Given the description of an element on the screen output the (x, y) to click on. 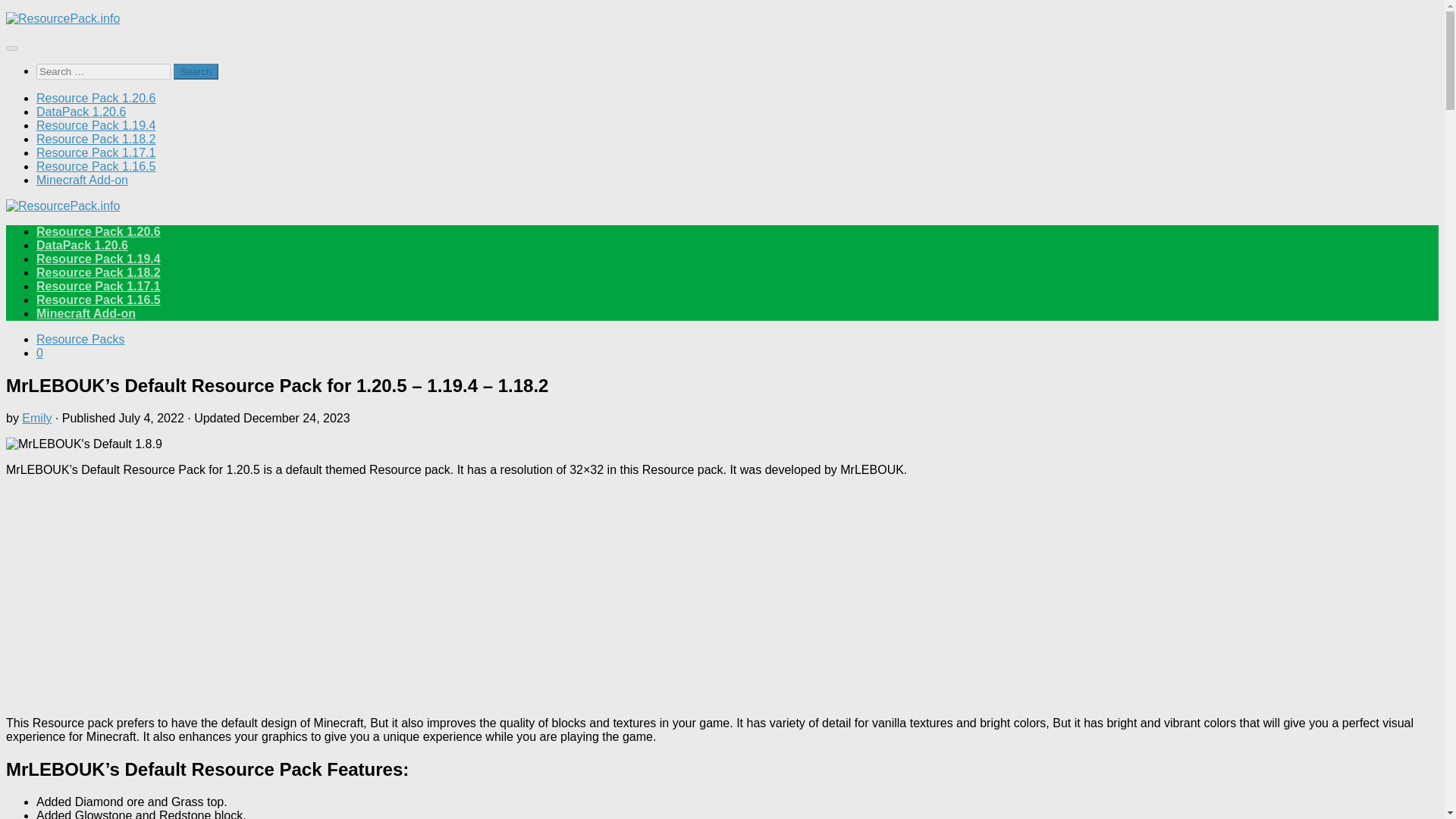
Resource Pack 1.16.5 (95, 165)
Resource Pack 1.17.1 (95, 152)
DataPack 1.20.6 (80, 111)
Emily (35, 418)
Minecraft Add-on (85, 313)
Resource Pack 1.19.4 (98, 258)
Resource Pack 1.18.2 (95, 138)
Resource Pack 1.16.5 (98, 299)
Minecraft Add-on (82, 179)
Resource Pack 1.20.6 (95, 97)
